Given the description of an element on the screen output the (x, y) to click on. 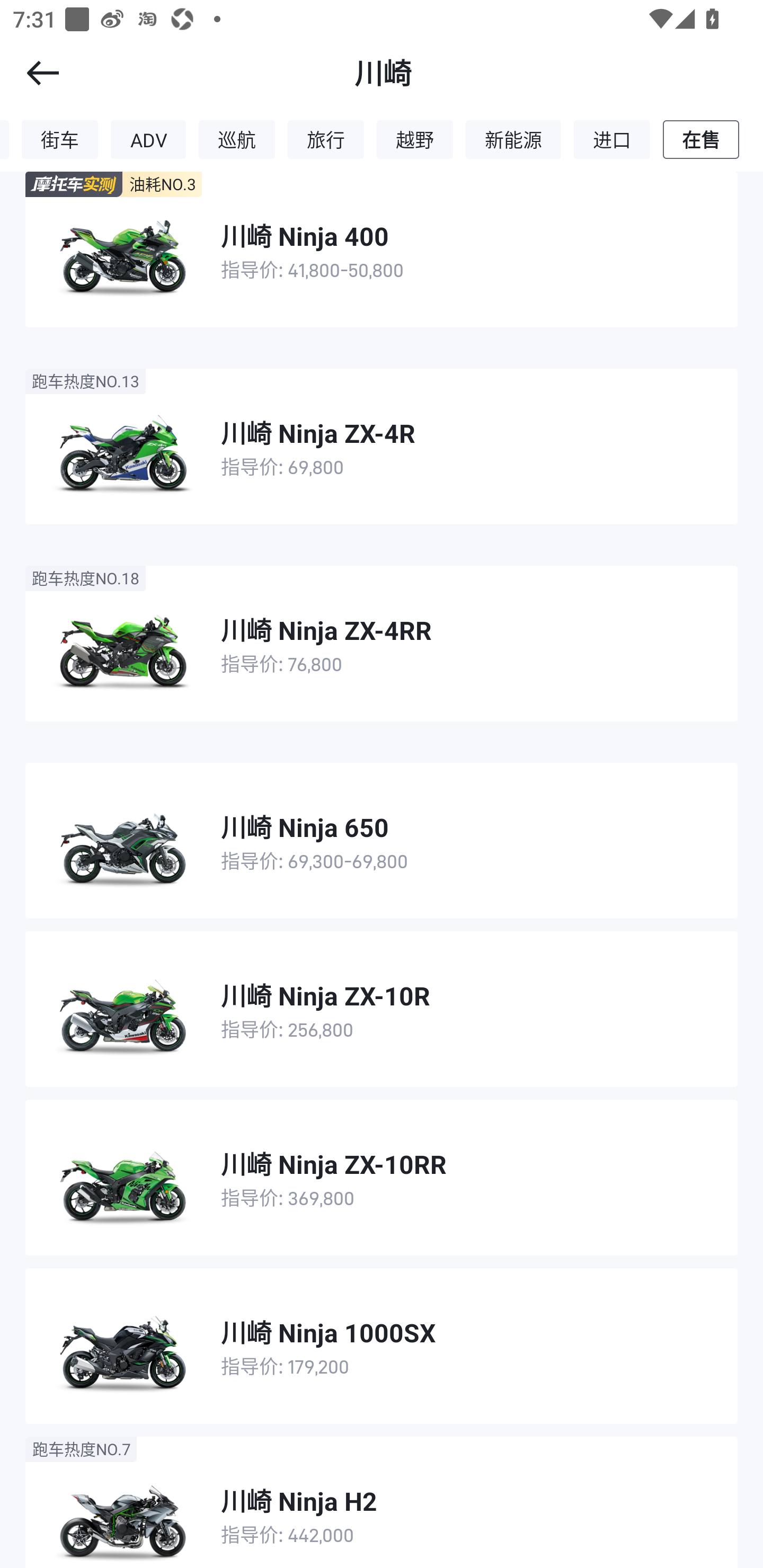
 (30, 72)
街车 (59, 139)
ADV (148, 139)
巡航 (236, 139)
旅行 (325, 139)
越野 (414, 139)
新能源 (512, 139)
进口 (611, 139)
在售 (701, 139)
油耗NO.3 川崎 Ninja 400 指导价: 41,800-50,800 (381, 248)
跑车热度NO.13 川崎 Ninja ZX-4R 指导价: 69,800 (381, 445)
跑车热度NO.13 (85, 380)
跑车热度NO.18 川崎 Ninja ZX-4RR 指导价: 76,800 (381, 643)
跑车热度NO.18 (85, 578)
川崎 Ninja 650 指导价: 69,300-69,800 (381, 840)
川崎 Ninja ZX-10R 指导价: 256,800 (381, 1008)
川崎 Ninja ZX-10RR 指导价: 369,800 (381, 1177)
川崎 Ninja 1000SX 指导价: 179,200 (381, 1345)
跑车热度NO.7 川崎 Ninja H2 指导价: 442,000 (381, 1502)
跑车热度NO.7 (80, 1448)
